Given the description of an element on the screen output the (x, y) to click on. 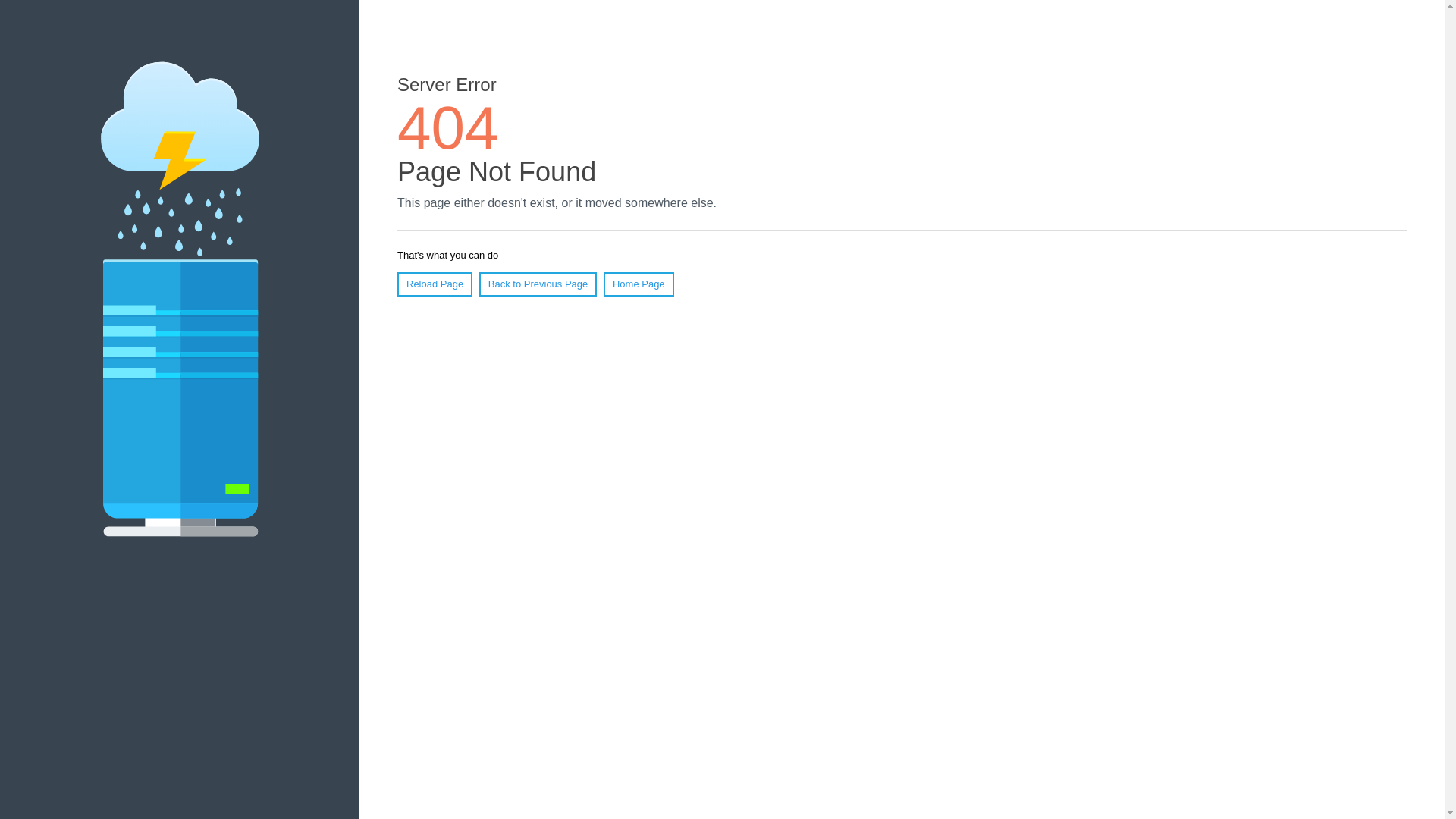
Home Page Element type: text (638, 284)
Reload Page Element type: text (434, 284)
Back to Previous Page Element type: text (538, 284)
